Given the description of an element on the screen output the (x, y) to click on. 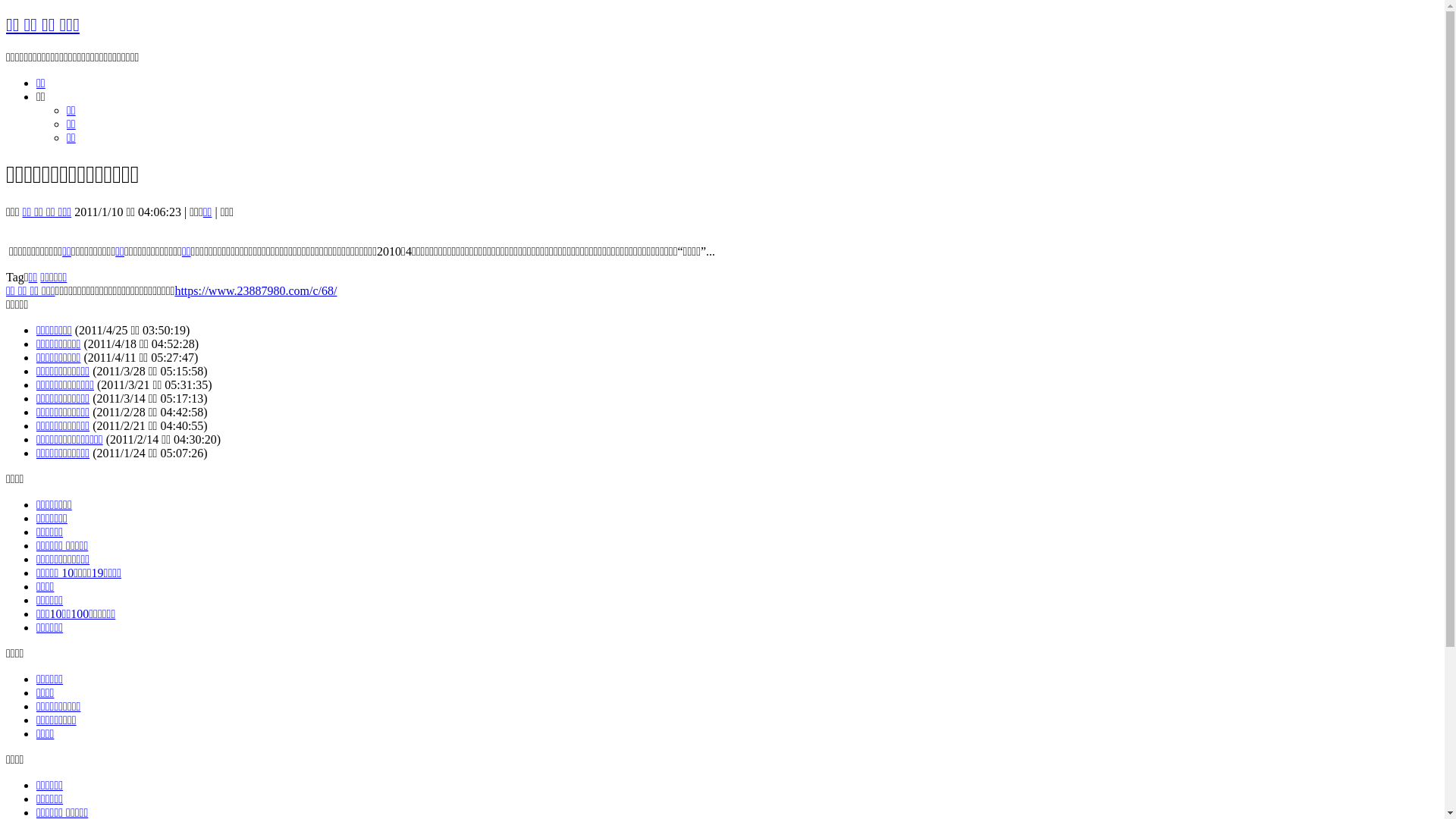
https://www.23887980.com/c/68/ Element type: text (255, 290)
